Given the description of an element on the screen output the (x, y) to click on. 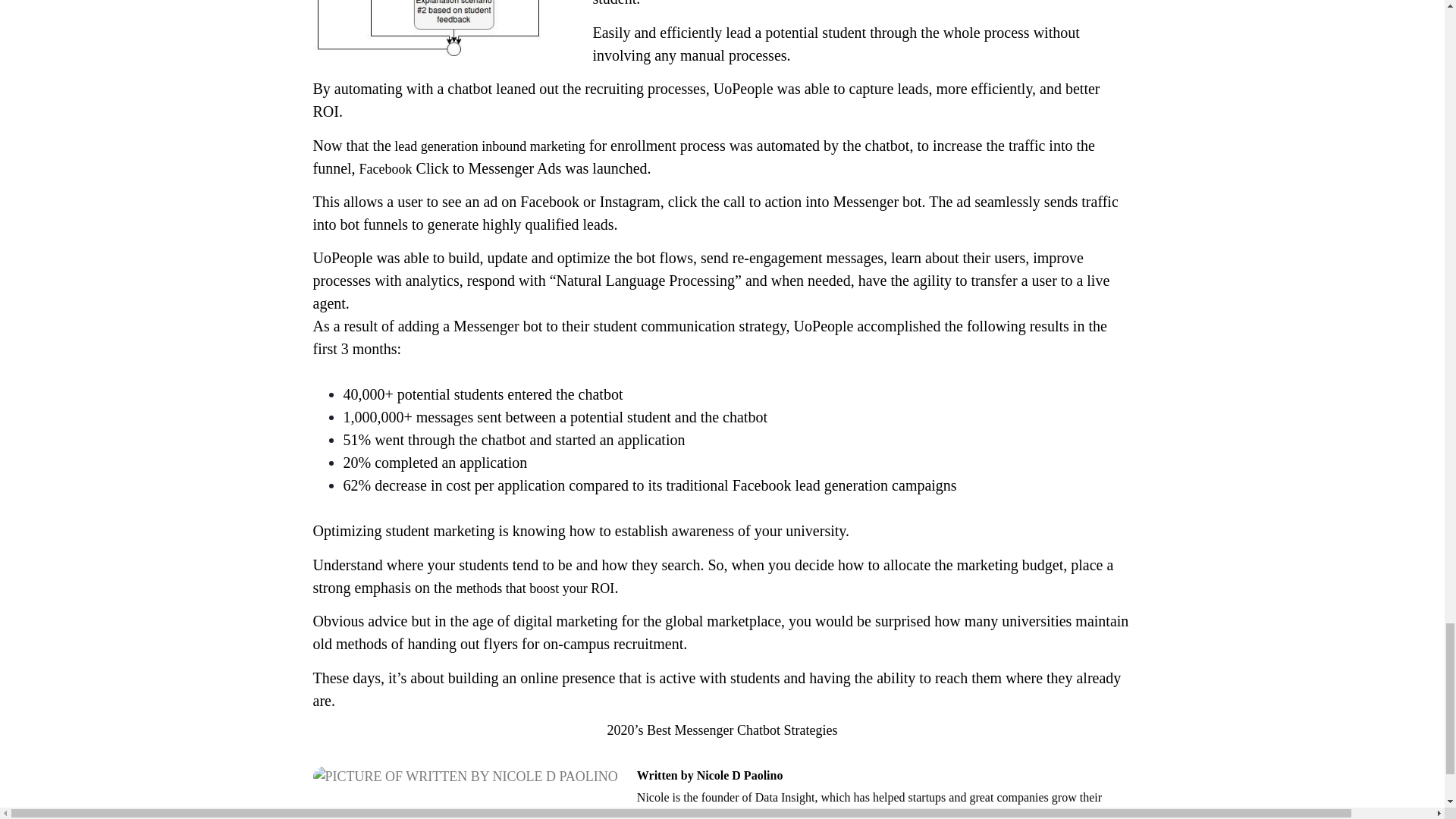
Facebook (385, 168)
2021 Best Facebook Messenger Chatbot Lead Generation Hacks 4 (446, 28)
methods that boost your ROI (534, 588)
lead generation inbound marketing (488, 145)
2021 Best Facebook Messenger Chatbot Lead Generation Hacks 5 (465, 775)
Written by Nicole D Paolino (884, 774)
